Given the description of an element on the screen output the (x, y) to click on. 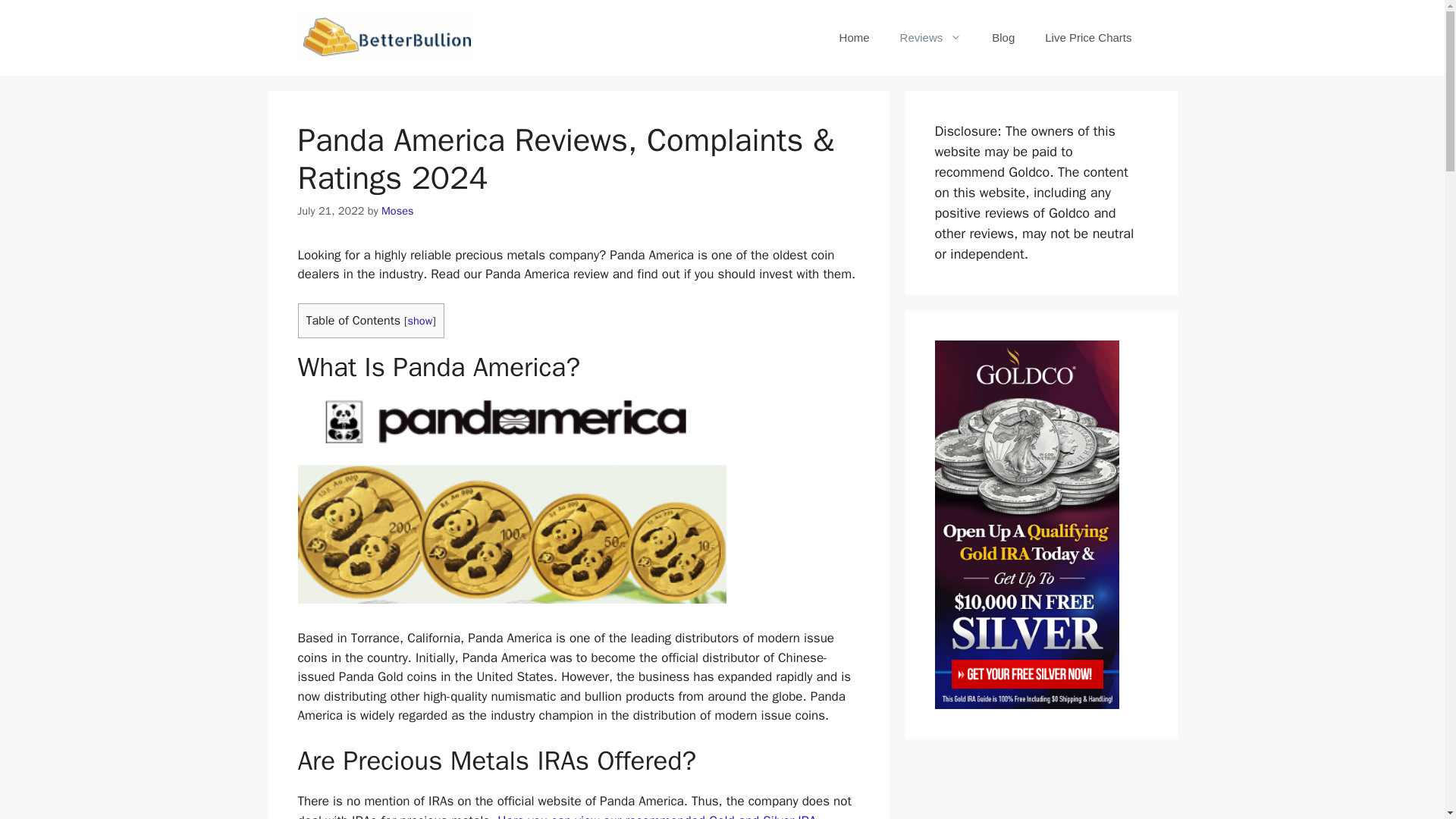
View all posts by Moses (397, 210)
Blog (1002, 37)
Panda America Reviews (511, 501)
Moses (397, 210)
show (419, 320)
Reviews (930, 37)
Live Price Charts (1088, 37)
Home (854, 37)
